Given the description of an element on the screen output the (x, y) to click on. 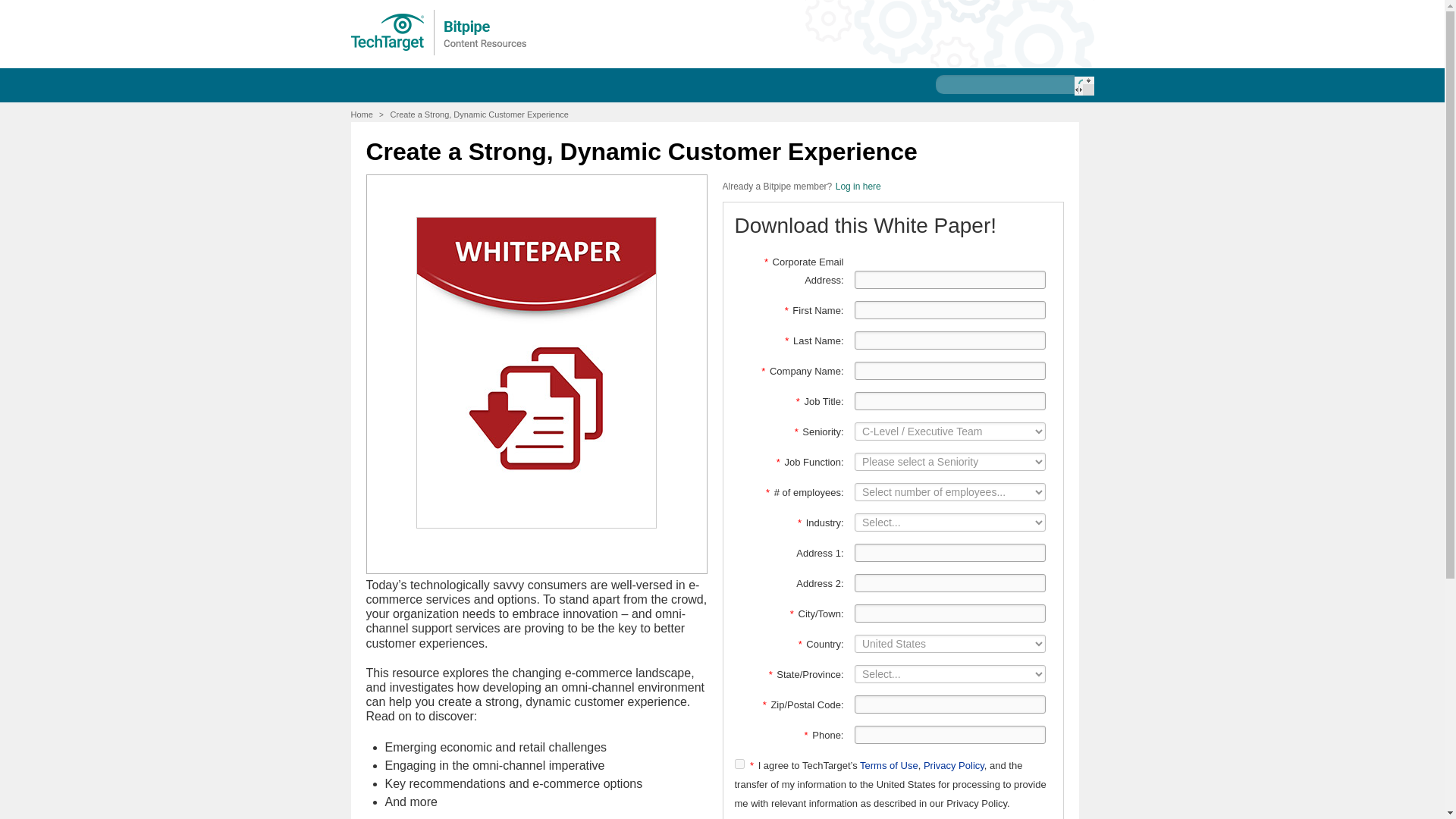
Log in here (857, 185)
Bitpipe (439, 32)
Terms of Use (889, 765)
Privacy Policy (953, 765)
Search (1083, 85)
Search (1083, 85)
Home (361, 113)
true (738, 764)
